Given the description of an element on the screen output the (x, y) to click on. 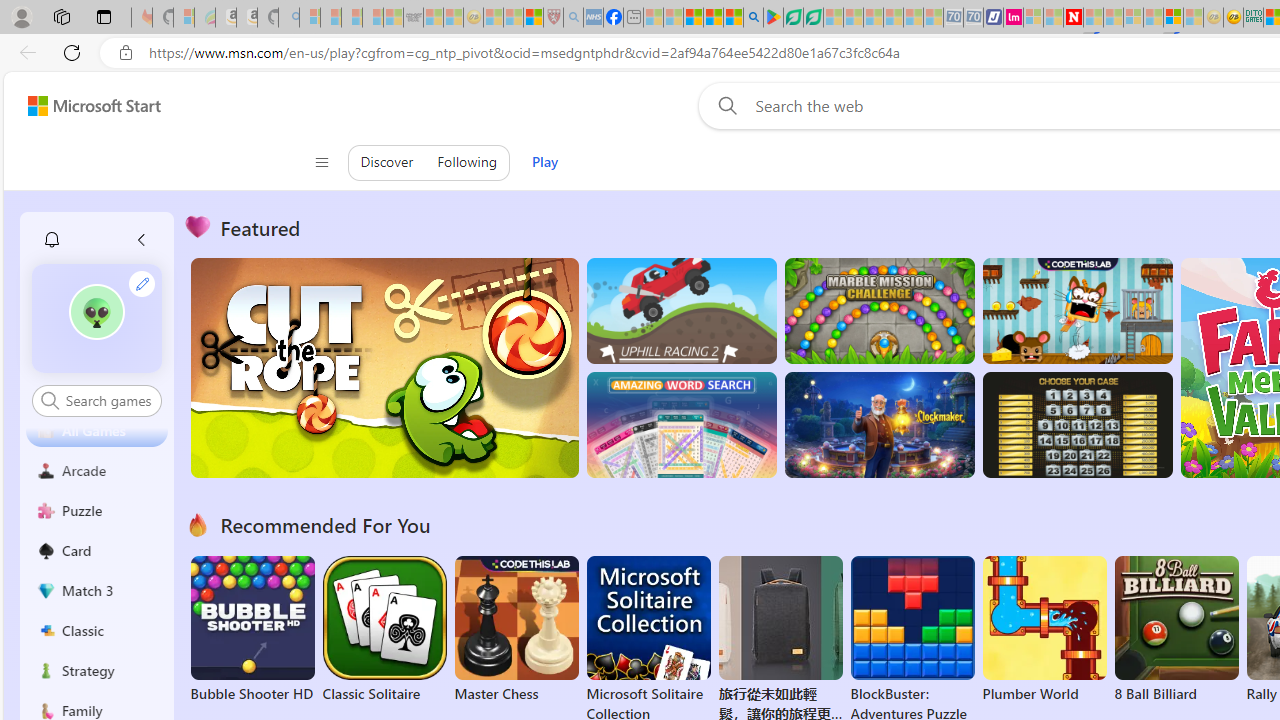
Up Hill Racing 2 (681, 310)
Clockmaker (879, 425)
Master Chess (516, 629)
Class: notification-item (51, 239)
